Given the description of an element on the screen output the (x, y) to click on. 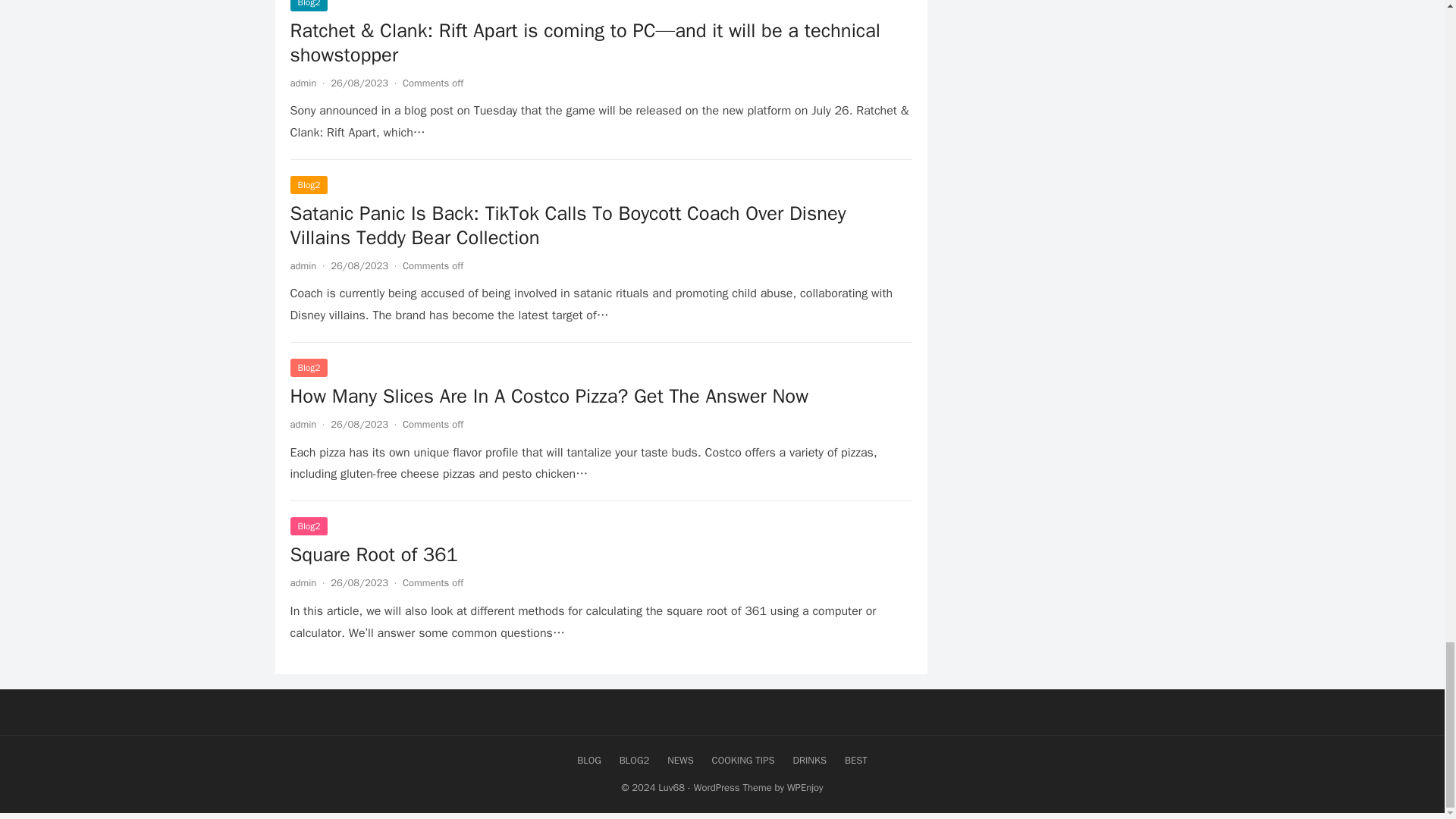
admin (302, 265)
Posts by admin (302, 82)
Posts by admin (302, 423)
Posts by admin (302, 265)
Posts by admin (302, 582)
How Many Slices Are In A Costco Pizza? Get The Answer Now (548, 396)
Blog2 (308, 185)
Blog2 (308, 367)
admin (302, 82)
Blog2 (308, 5)
